Given the description of an element on the screen output the (x, y) to click on. 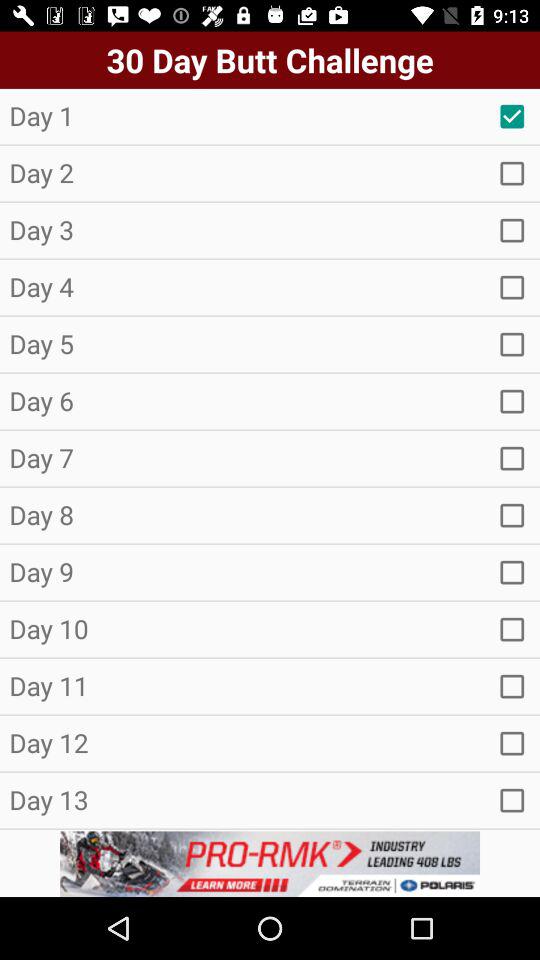
select item (512, 230)
